Given the description of an element on the screen output the (x, y) to click on. 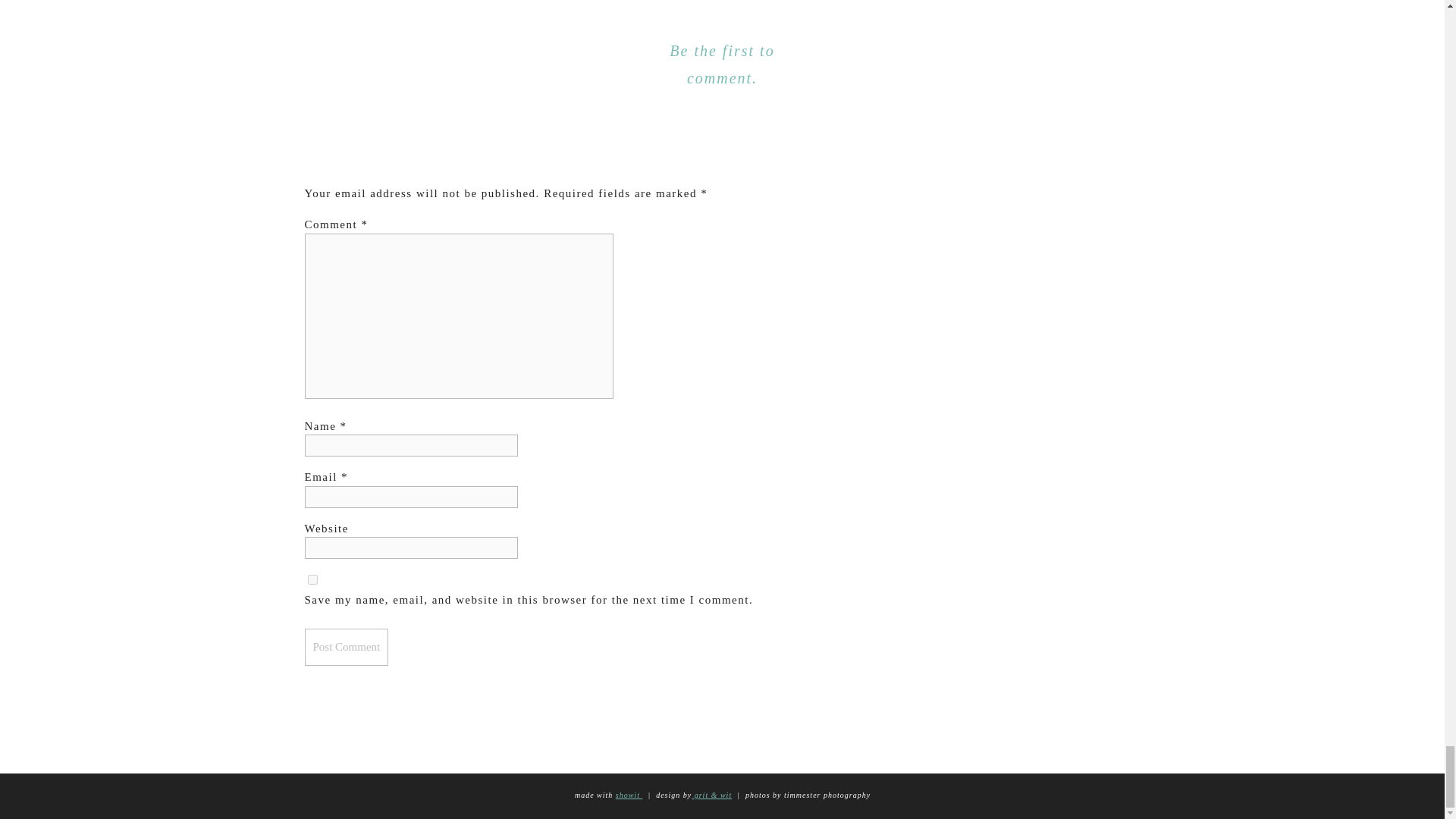
Post Comment (346, 646)
Post Comment (346, 646)
yes (312, 579)
showit  (629, 795)
Be the first to comment. (721, 64)
